Given the description of an element on the screen output the (x, y) to click on. 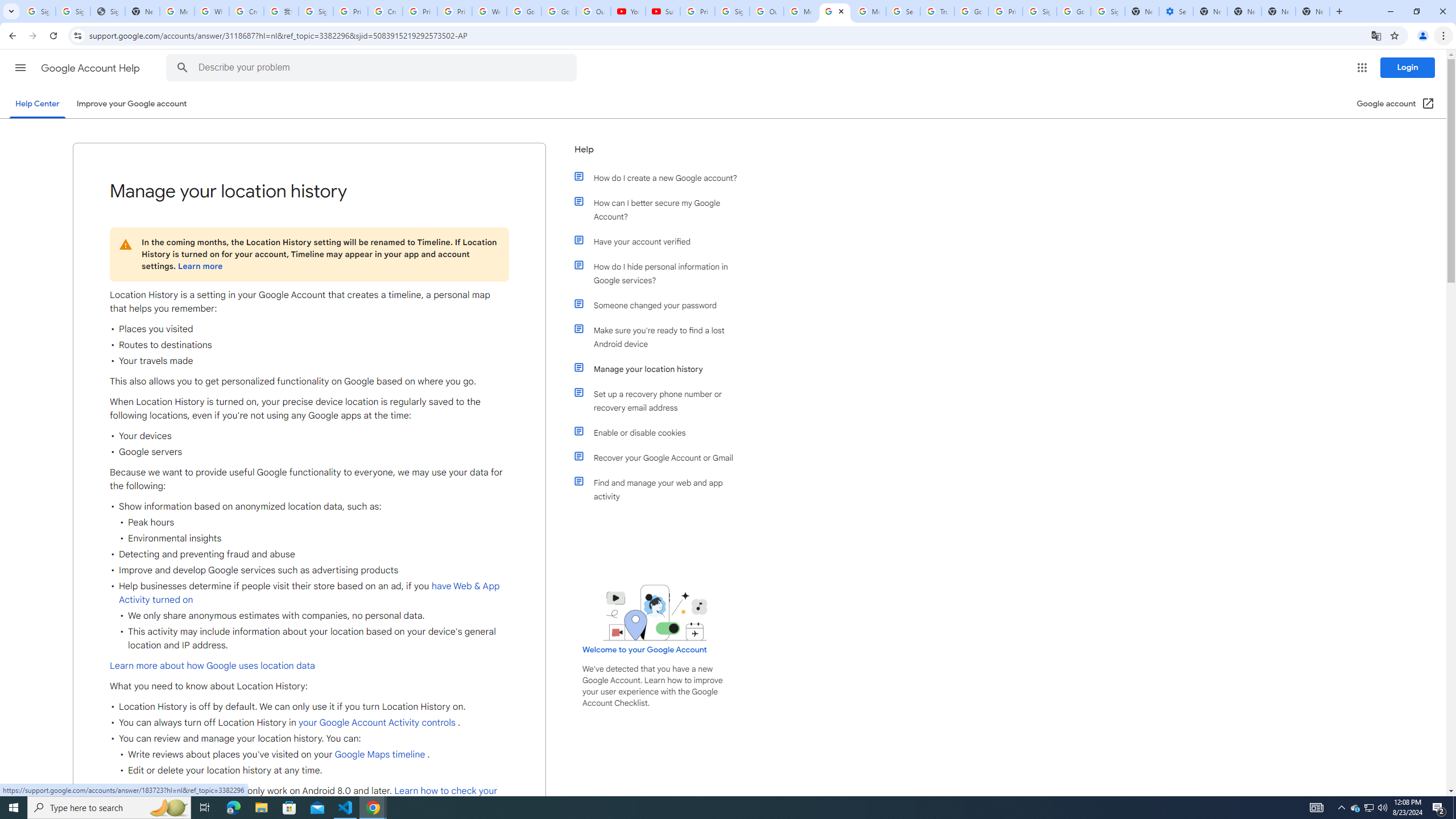
your Google Account Activity controls (376, 722)
Recover your Google Account or Gmail (661, 457)
Someone changed your password (661, 305)
Learn more about how Google uses location data (211, 665)
Sign in - Google Accounts (1039, 11)
Manage your location history - Google Account Help (834, 11)
How can I better secure my Google Account? (661, 209)
Welcome to My Activity (489, 11)
